Given the description of an element on the screen output the (x, y) to click on. 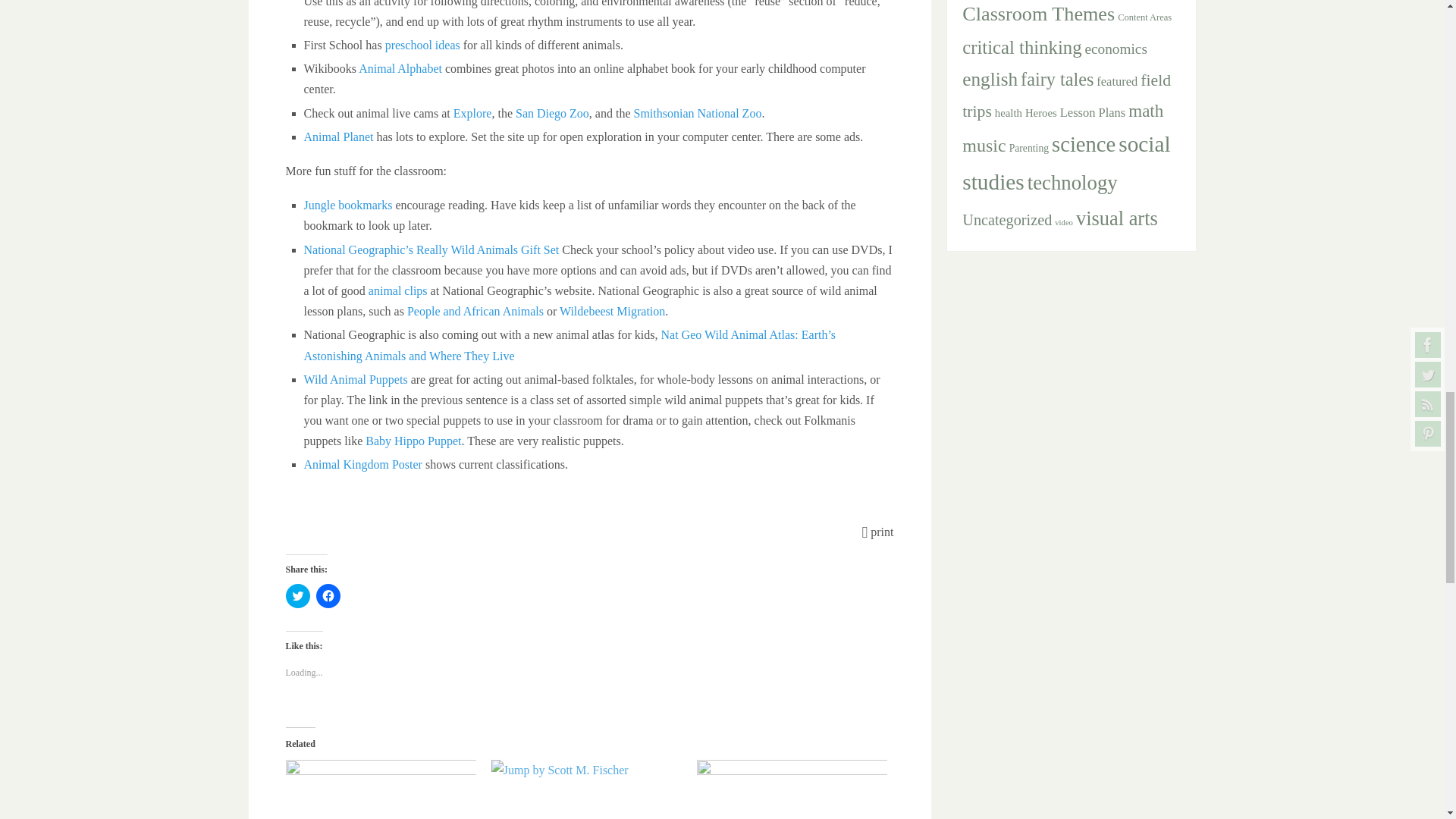
Animal Alphabet (400, 68)
Click to share on Twitter (296, 595)
Jump! Lesson Plans (586, 789)
San Diego Zoo (552, 113)
Animal Planet (337, 136)
Nocturnal Animal Lesson Plans (380, 789)
Jungle bookmarks (346, 205)
preschool ideas (422, 44)
People and African Animals (475, 310)
Smithsonian National Zoo (697, 113)
